Given the description of an element on the screen output the (x, y) to click on. 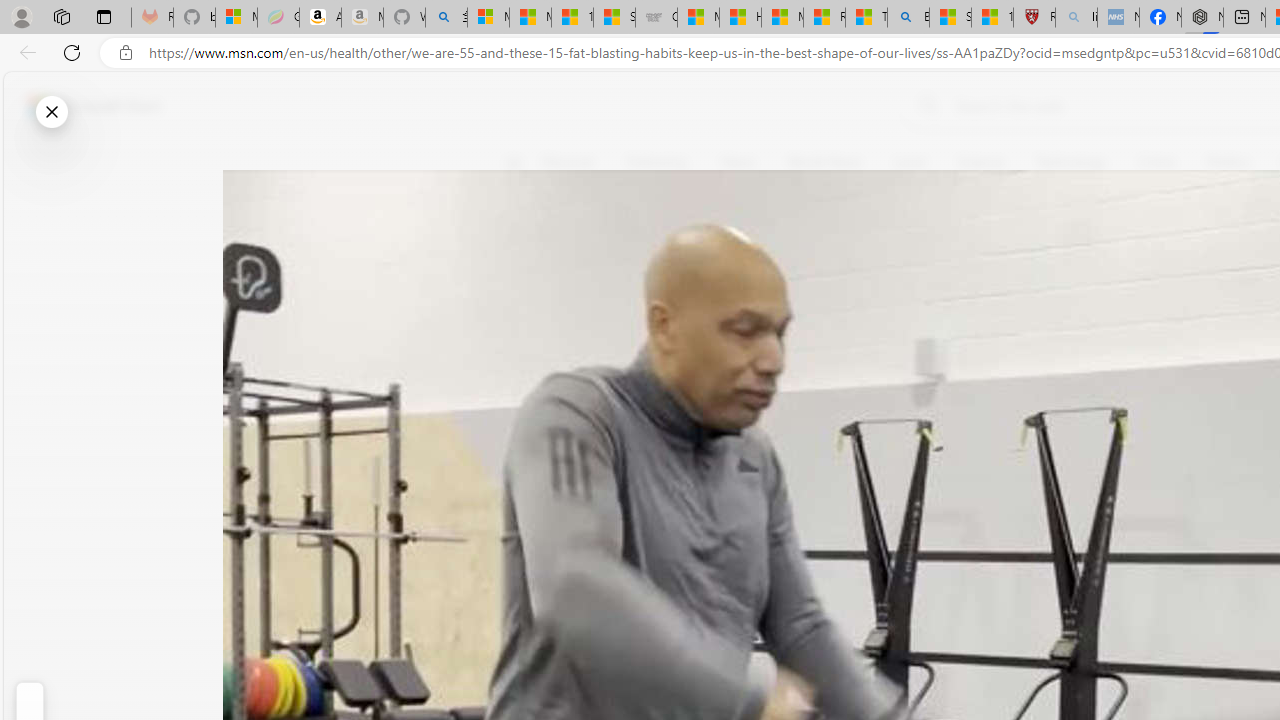
Share this story (525, 412)
Recipes - MSN (823, 17)
